Given the description of an element on the screen output the (x, y) to click on. 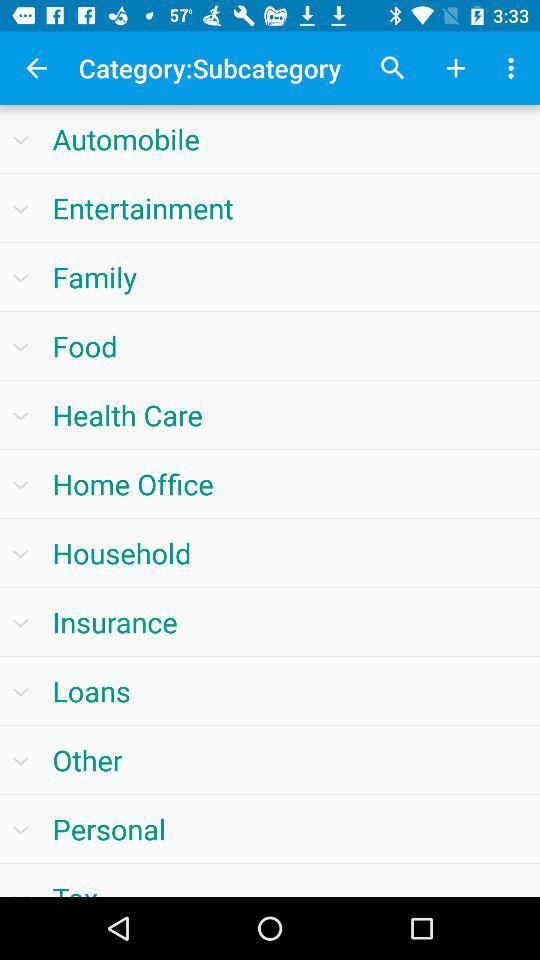
click the icon above automobile (36, 68)
